Given the description of an element on the screen output the (x, y) to click on. 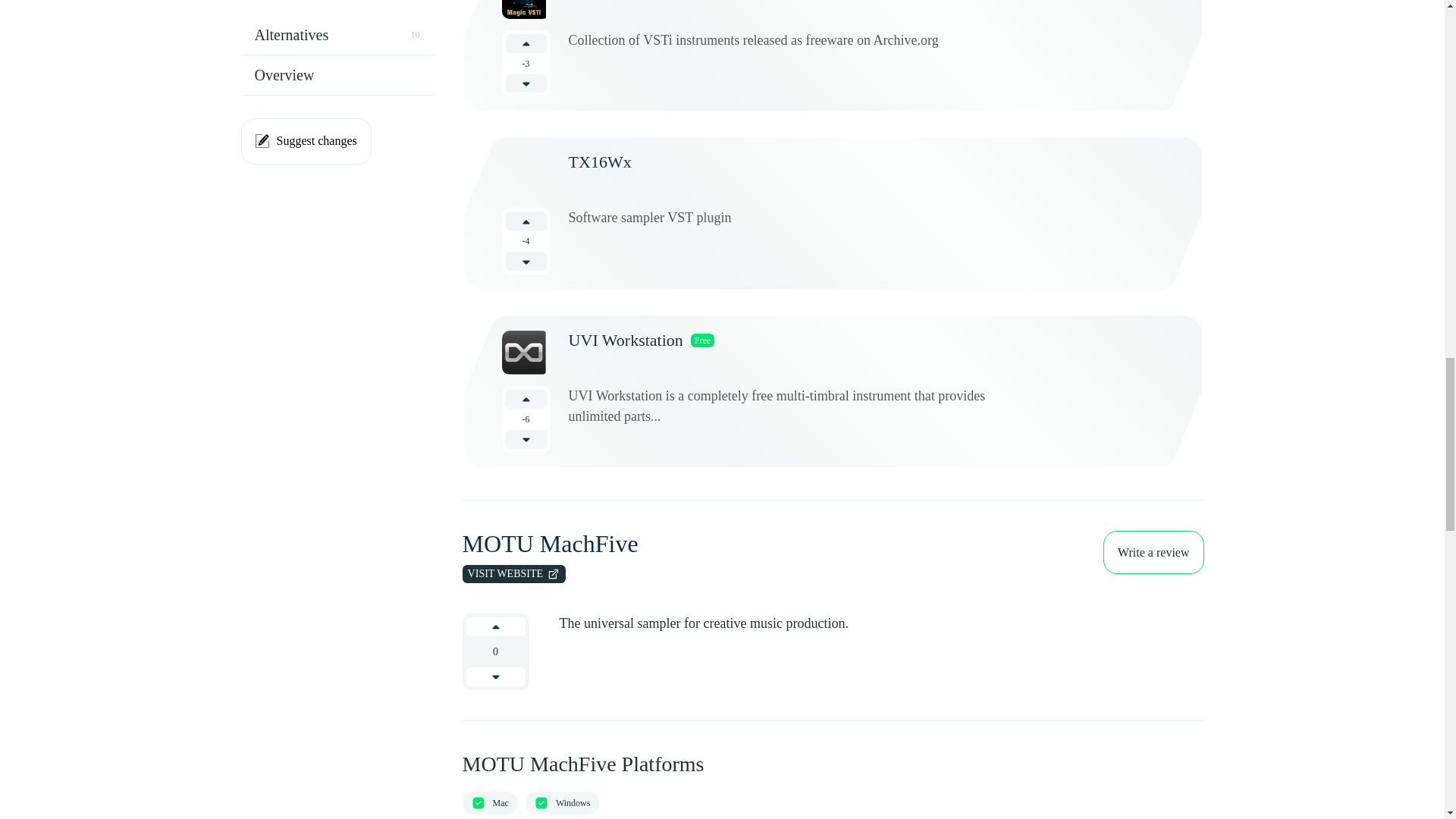
Visit MOTU MachFive Official site (514, 574)
